Given the description of an element on the screen output the (x, y) to click on. 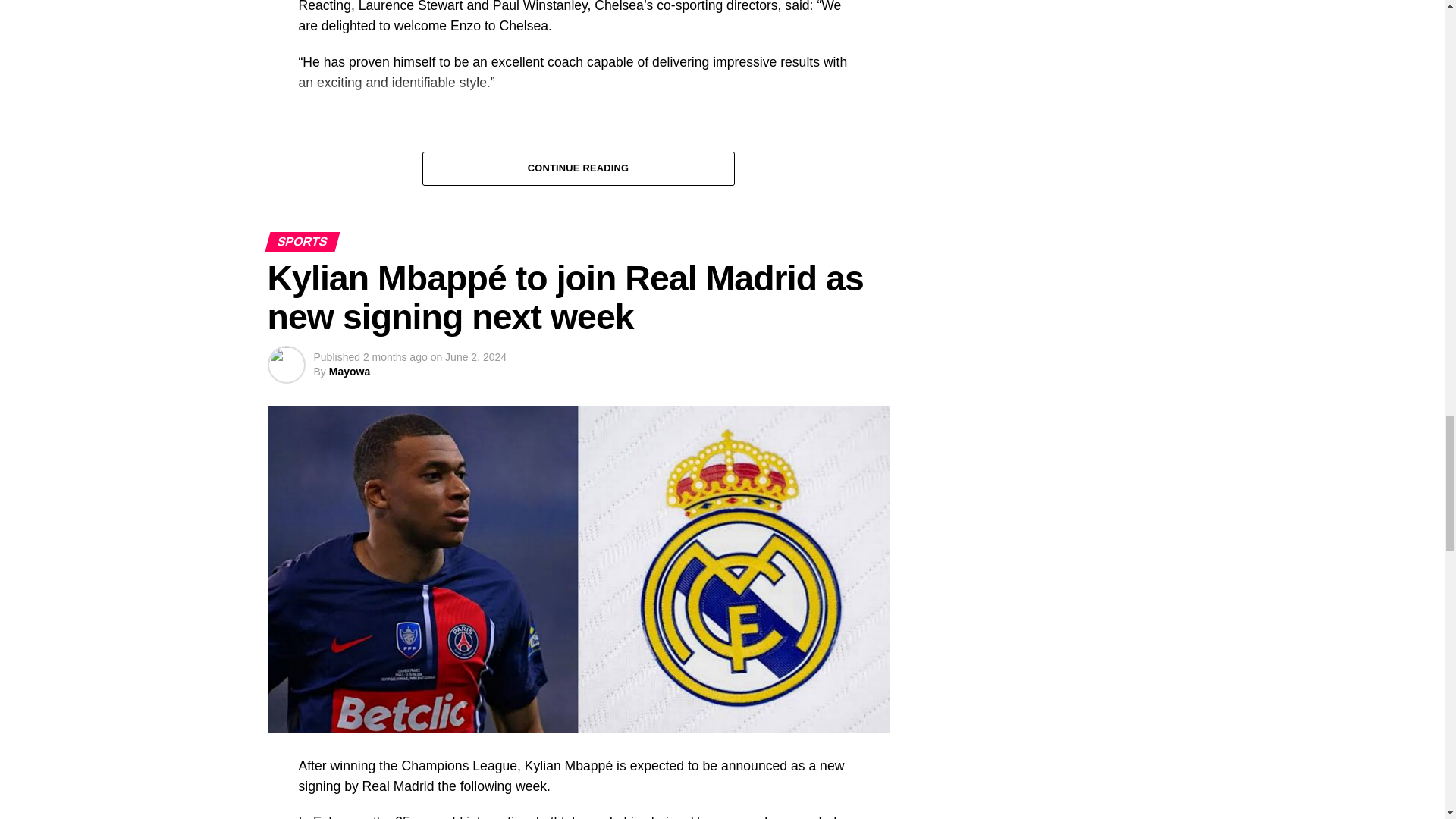
Posts by Mayowa (349, 371)
CONTINUE READING (577, 166)
Mayowa (349, 371)
